Given the description of an element on the screen output the (x, y) to click on. 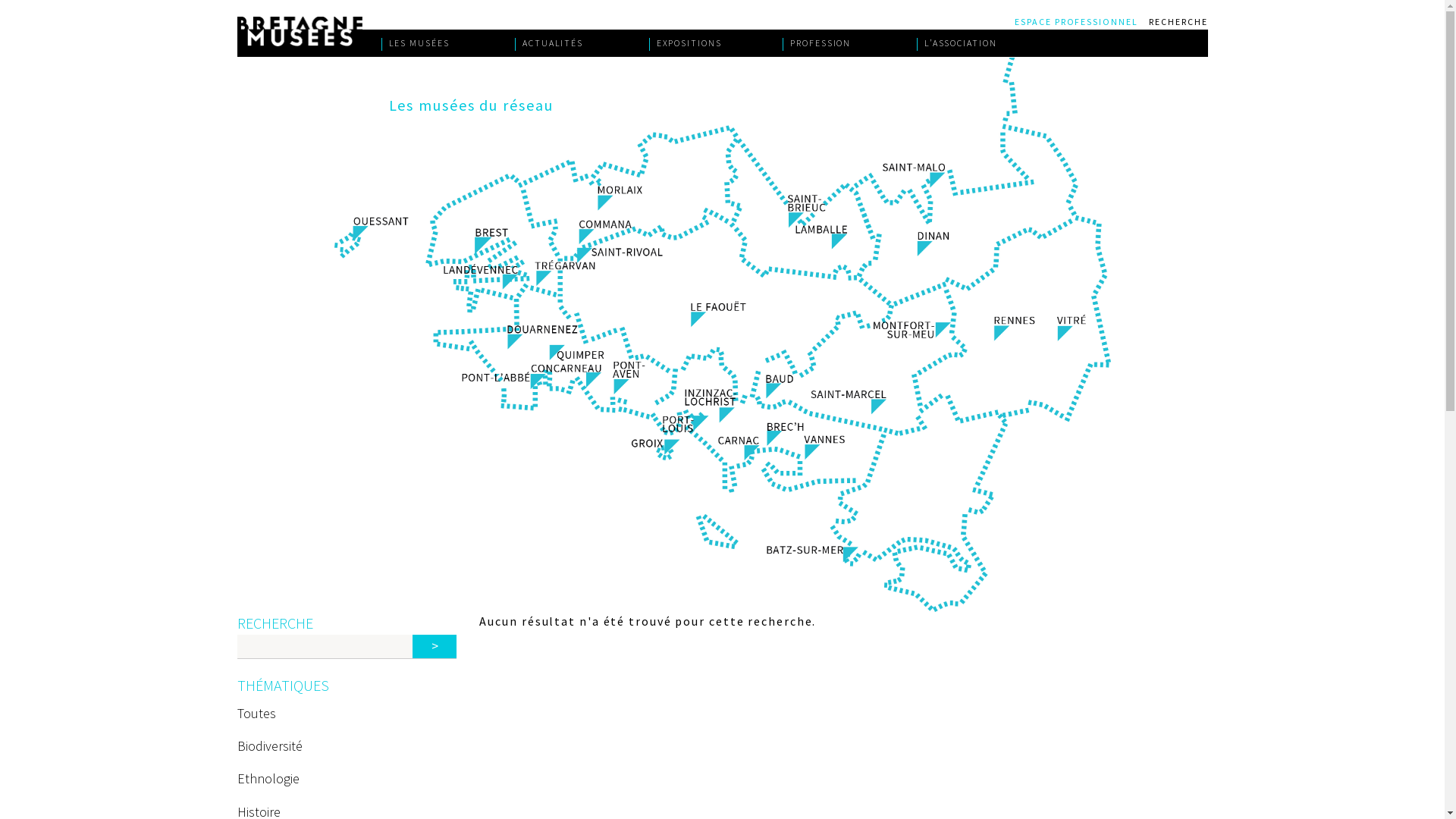
ESPACE PROFESSIONNEL Element type: text (1079, 20)
Toutes Element type: text (255, 712)
EXPOSITIONS Element type: text (716, 43)
PROFESSION Element type: text (849, 43)
Ethnologie Element type: text (267, 778)
> Element type: text (434, 646)
